Given the description of an element on the screen output the (x, y) to click on. 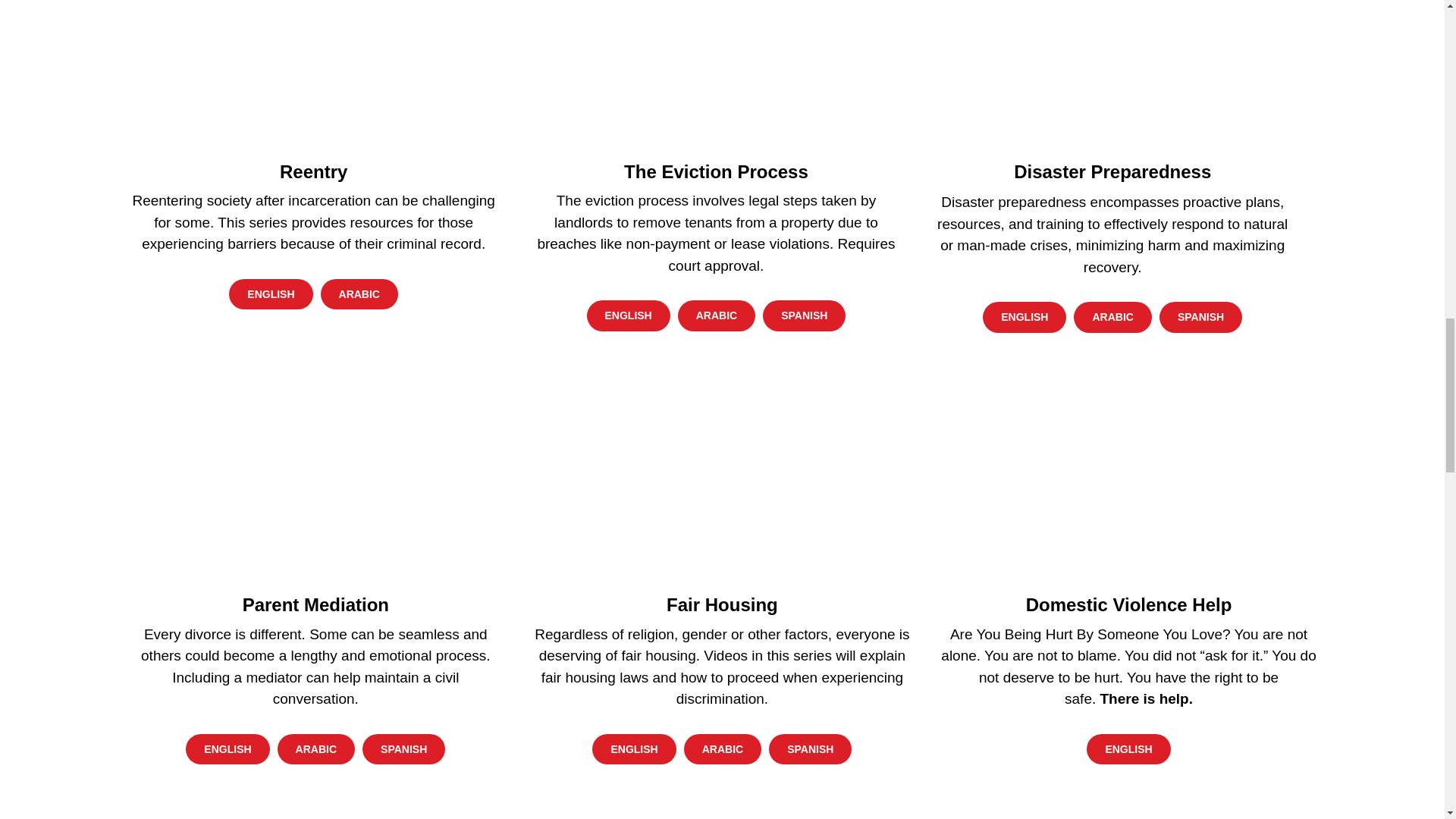
The Eviction Process (715, 72)
Shutterstock 2032921472 1 (313, 72)
Parent Mediation (315, 475)
